Given the description of an element on the screen output the (x, y) to click on. 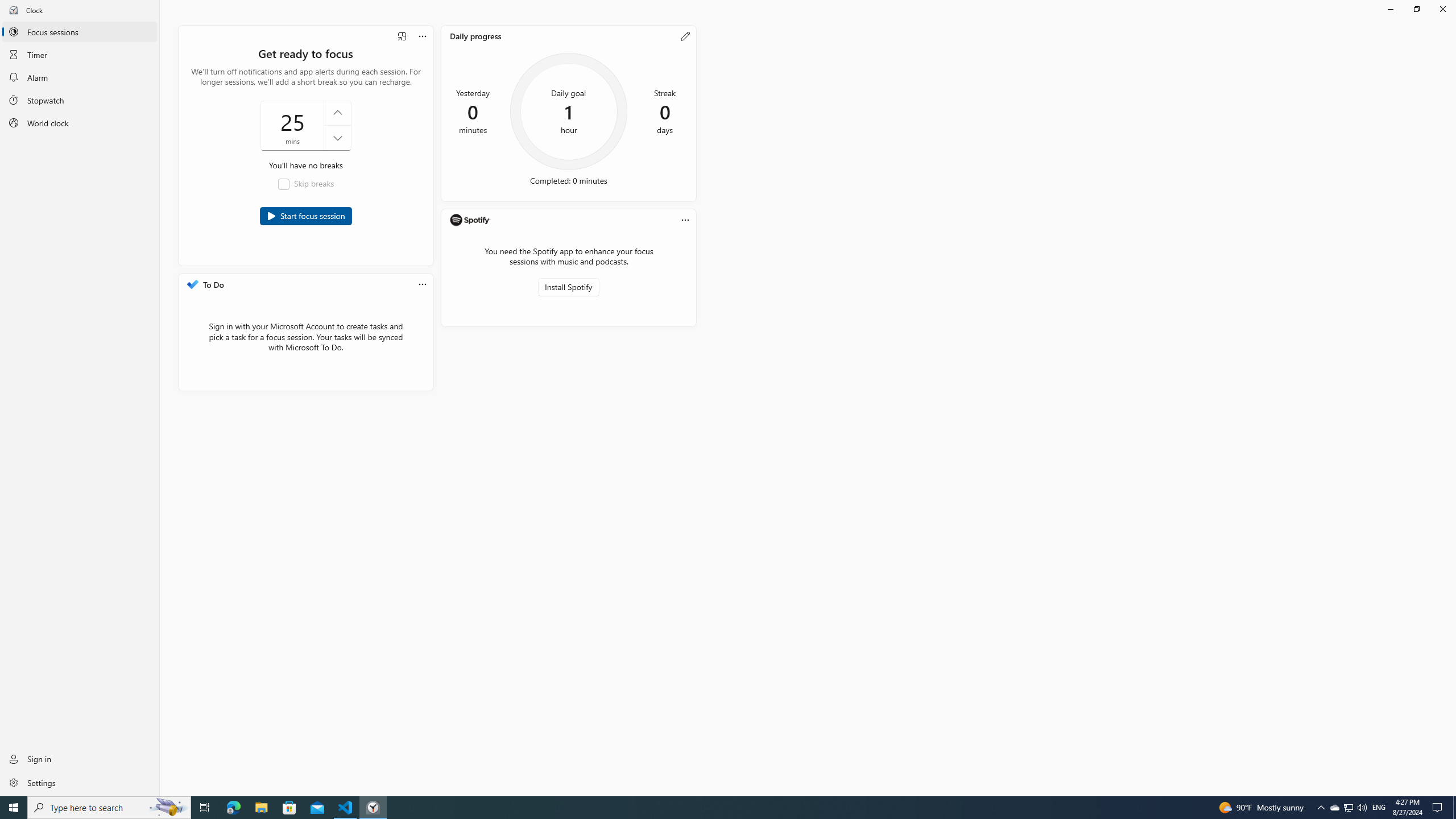
Sign in (79, 758)
Alarm (79, 77)
Increase the focus session time (337, 112)
Restore Clock (1416, 9)
Edit your daily goal (684, 36)
Skip breaks (306, 184)
Focus sessions (79, 31)
